Given the description of an element on the screen output the (x, y) to click on. 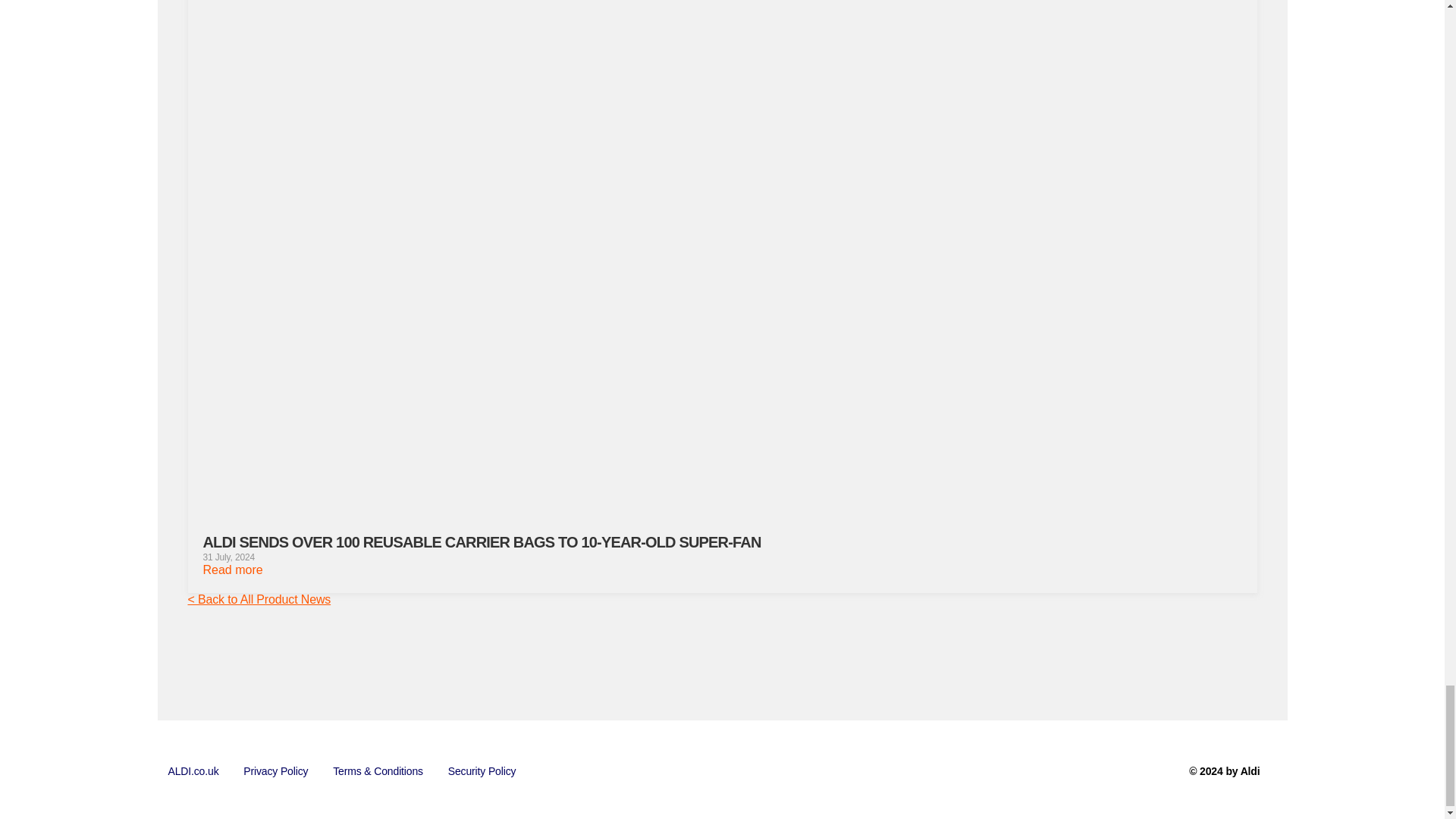
Privacy Policy (275, 771)
Security Policy (482, 771)
ALDI.co.uk (193, 771)
